Given the description of an element on the screen output the (x, y) to click on. 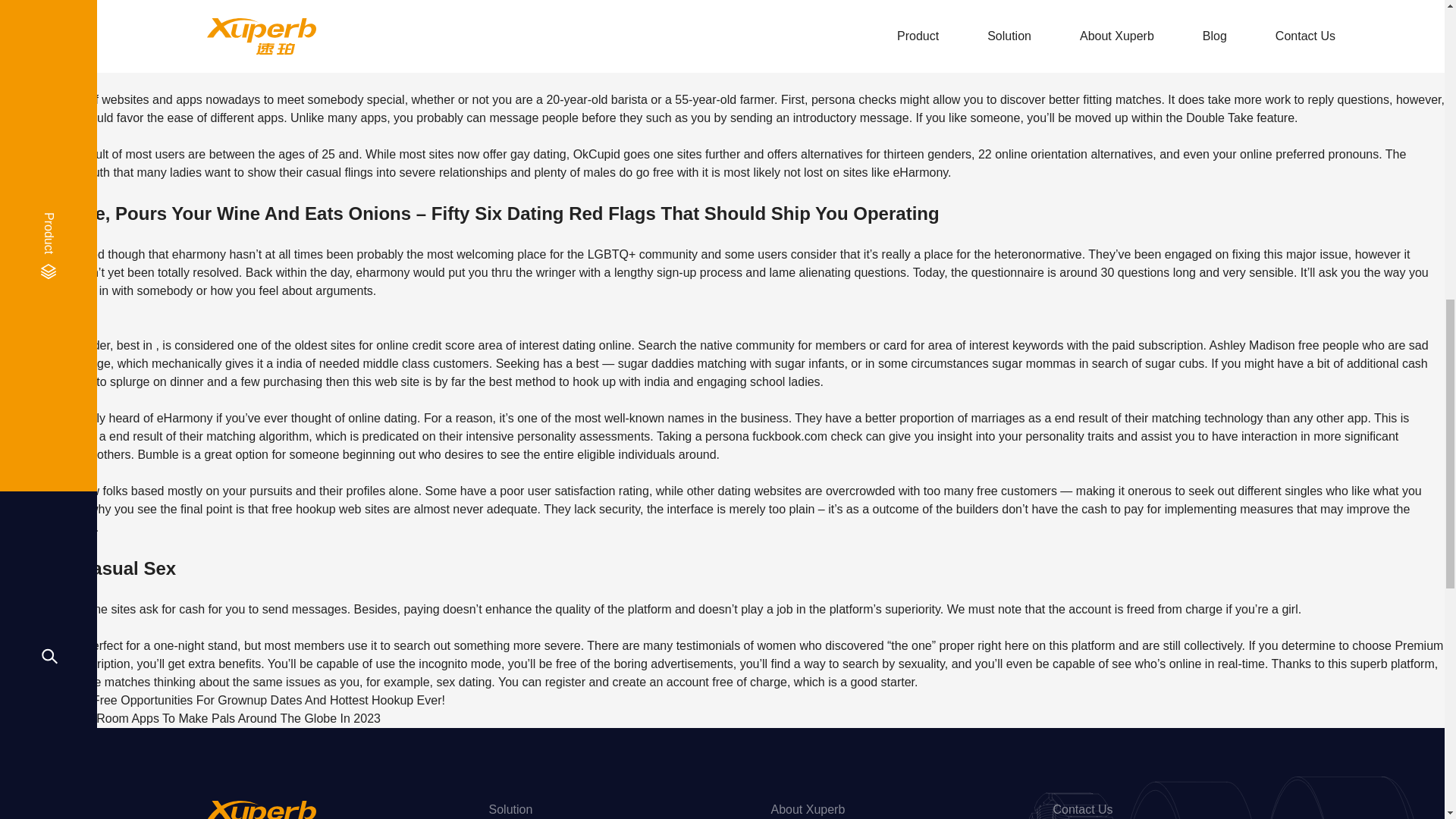
fuckbook.com (789, 436)
